Given the description of an element on the screen output the (x, y) to click on. 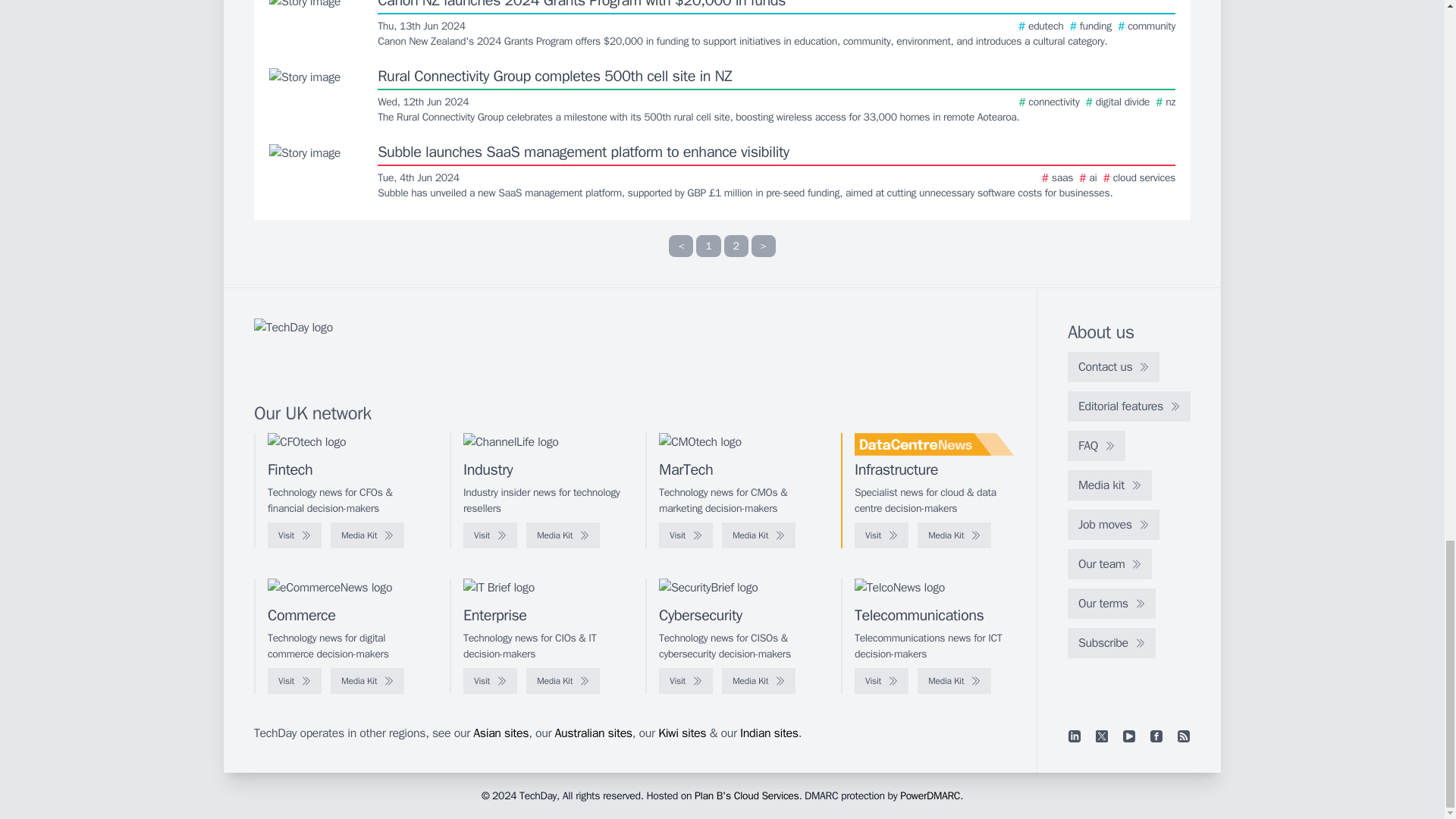
Visit (489, 534)
Visit (294, 534)
Media Kit (367, 534)
1 (707, 246)
2 (735, 246)
Media Kit (562, 534)
